Given the description of an element on the screen output the (x, y) to click on. 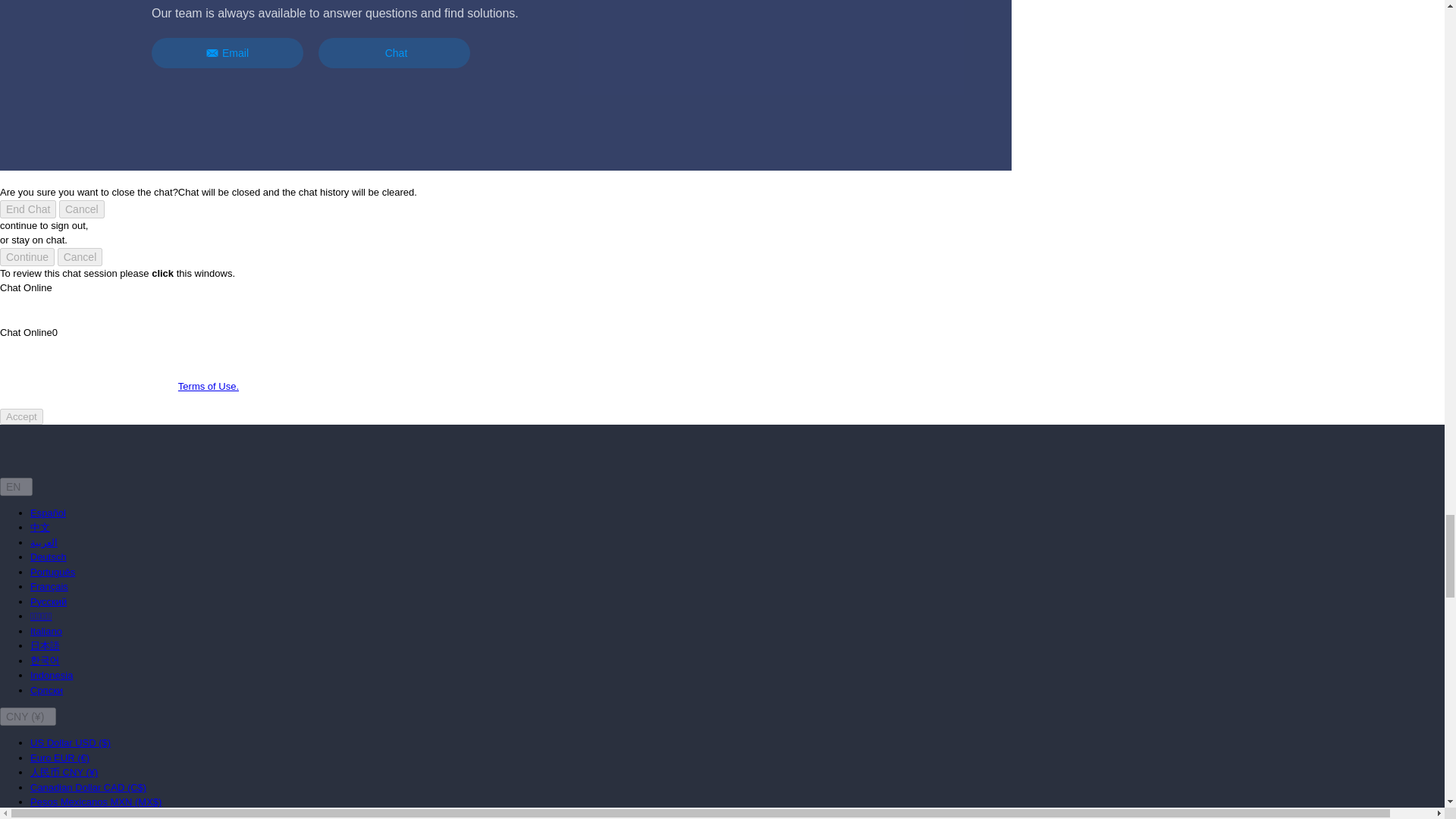
Accept (21, 416)
